Given the description of an element on the screen output the (x, y) to click on. 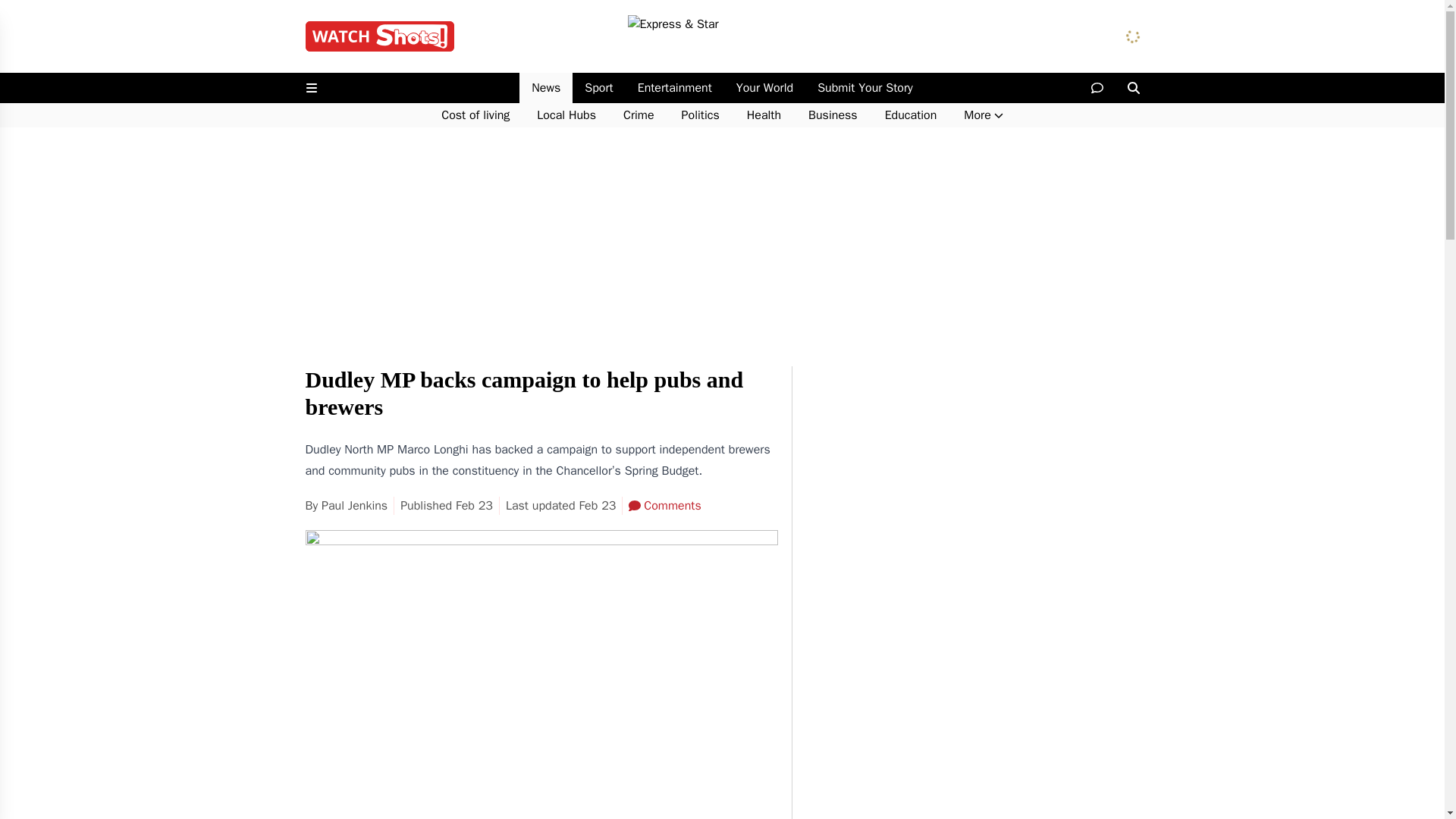
Crime (638, 115)
Health (764, 115)
Business (832, 115)
Sport (598, 87)
Cost of living (475, 115)
Your World (764, 87)
Local Hubs (566, 115)
Education (910, 115)
Submit Your Story (864, 87)
More (983, 115)
